Given the description of an element on the screen output the (x, y) to click on. 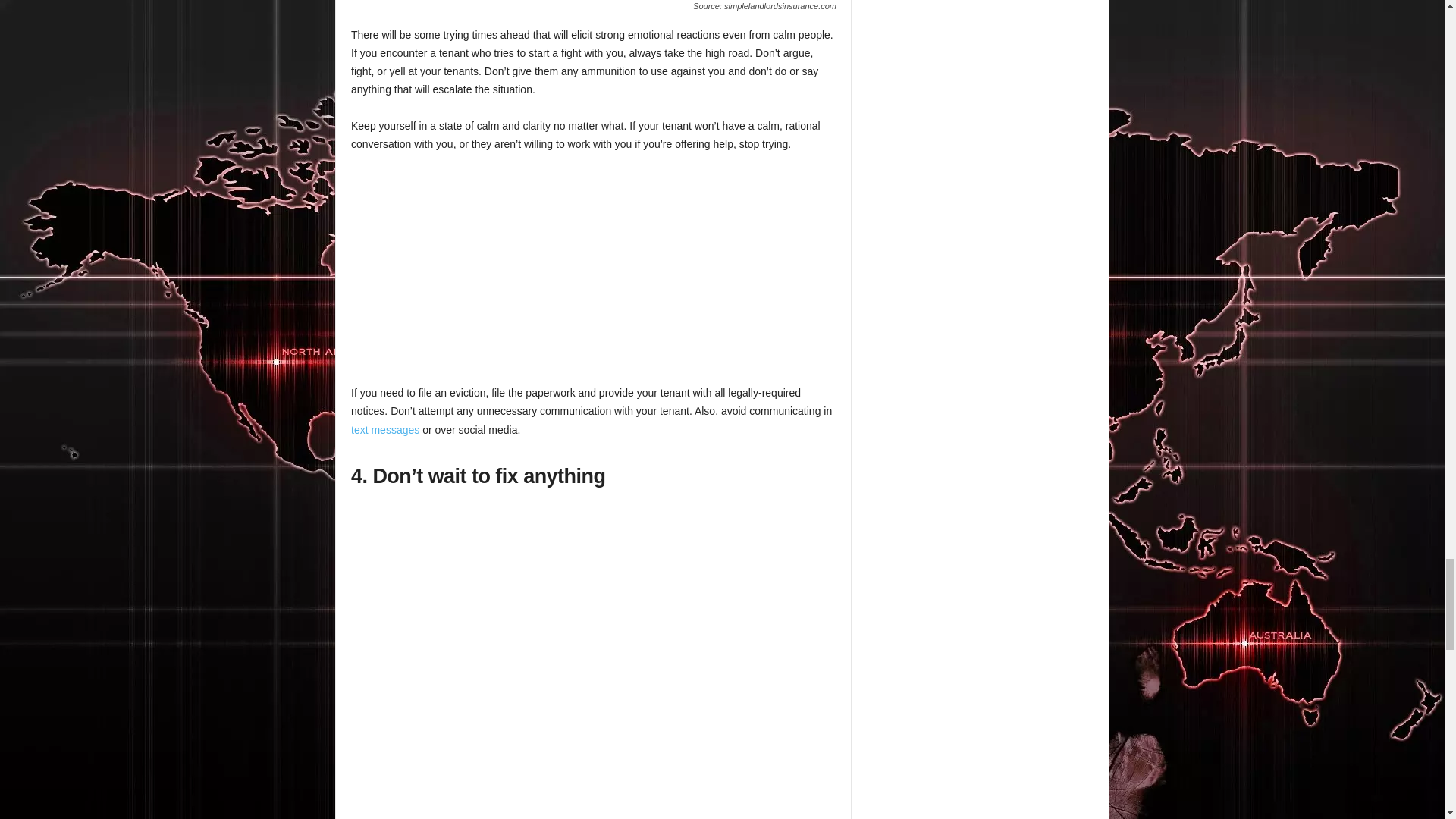
text messages (384, 429)
